Given the description of an element on the screen output the (x, y) to click on. 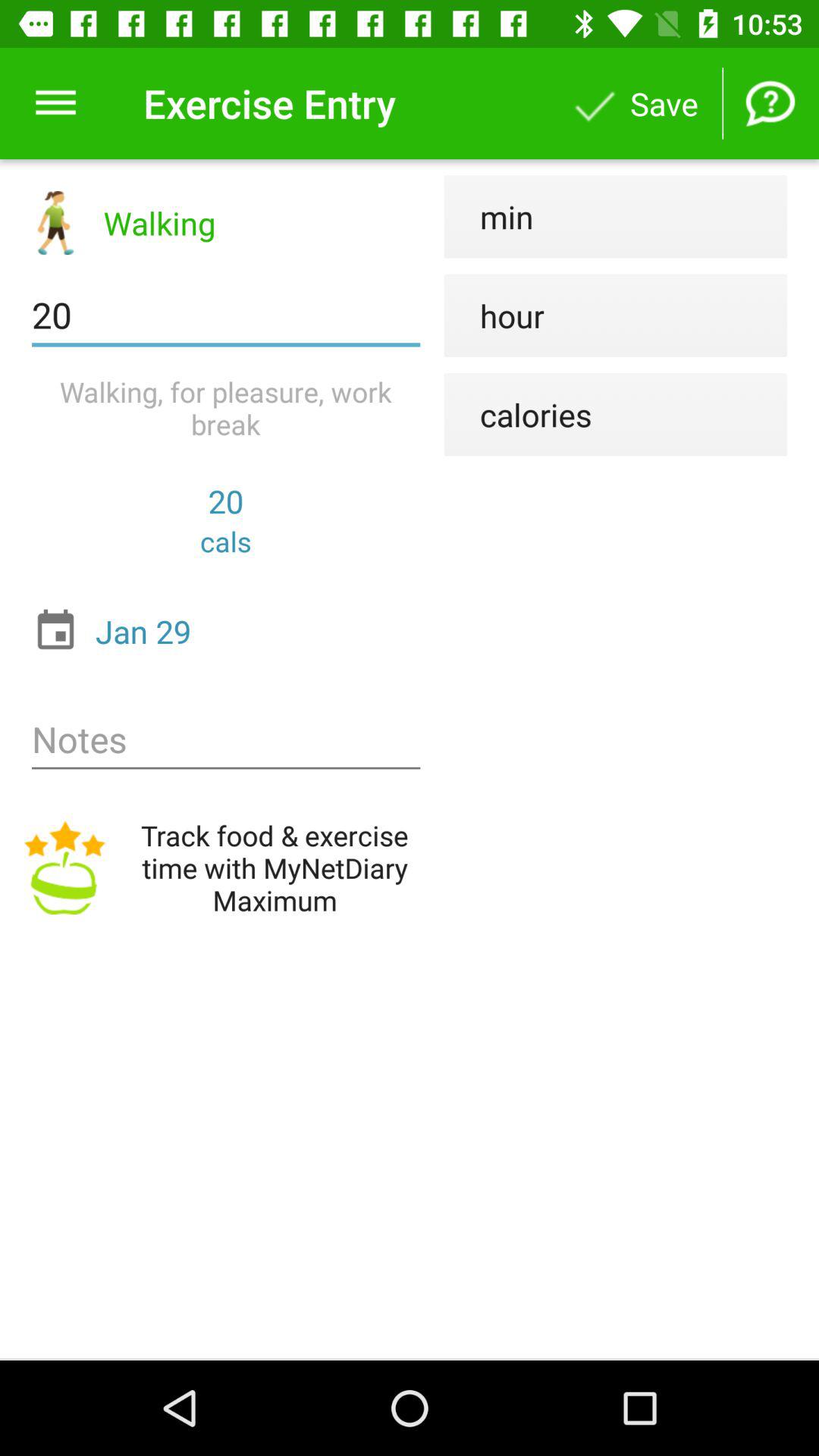
jump until the   min item (488, 216)
